Given the description of an element on the screen output the (x, y) to click on. 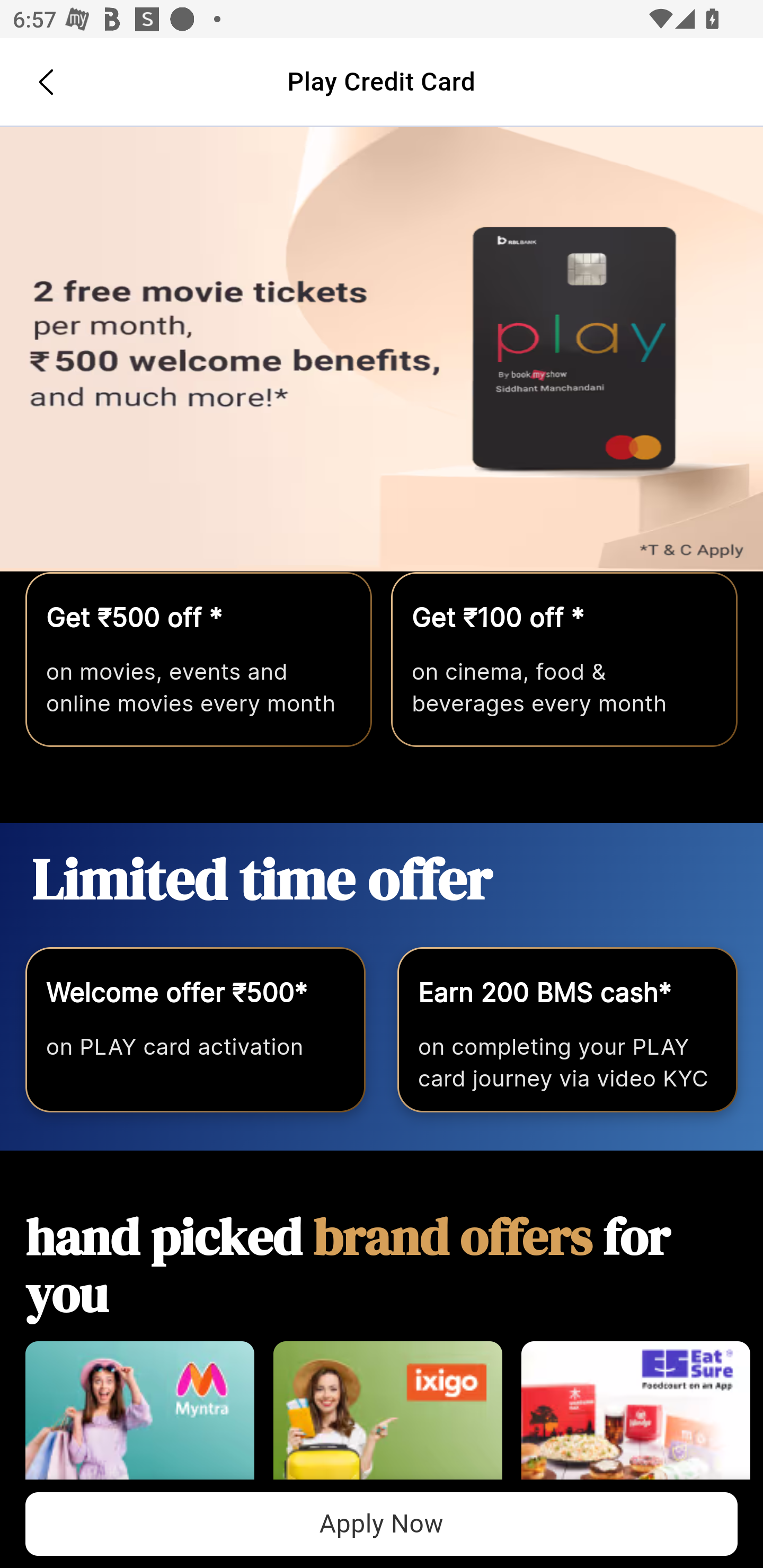
Apply Now (381, 349)
MYNTRA (139, 1419)
Ixigo (387, 1419)
EatSure (635, 1419)
Apply Now (381, 1523)
